Given the description of an element on the screen output the (x, y) to click on. 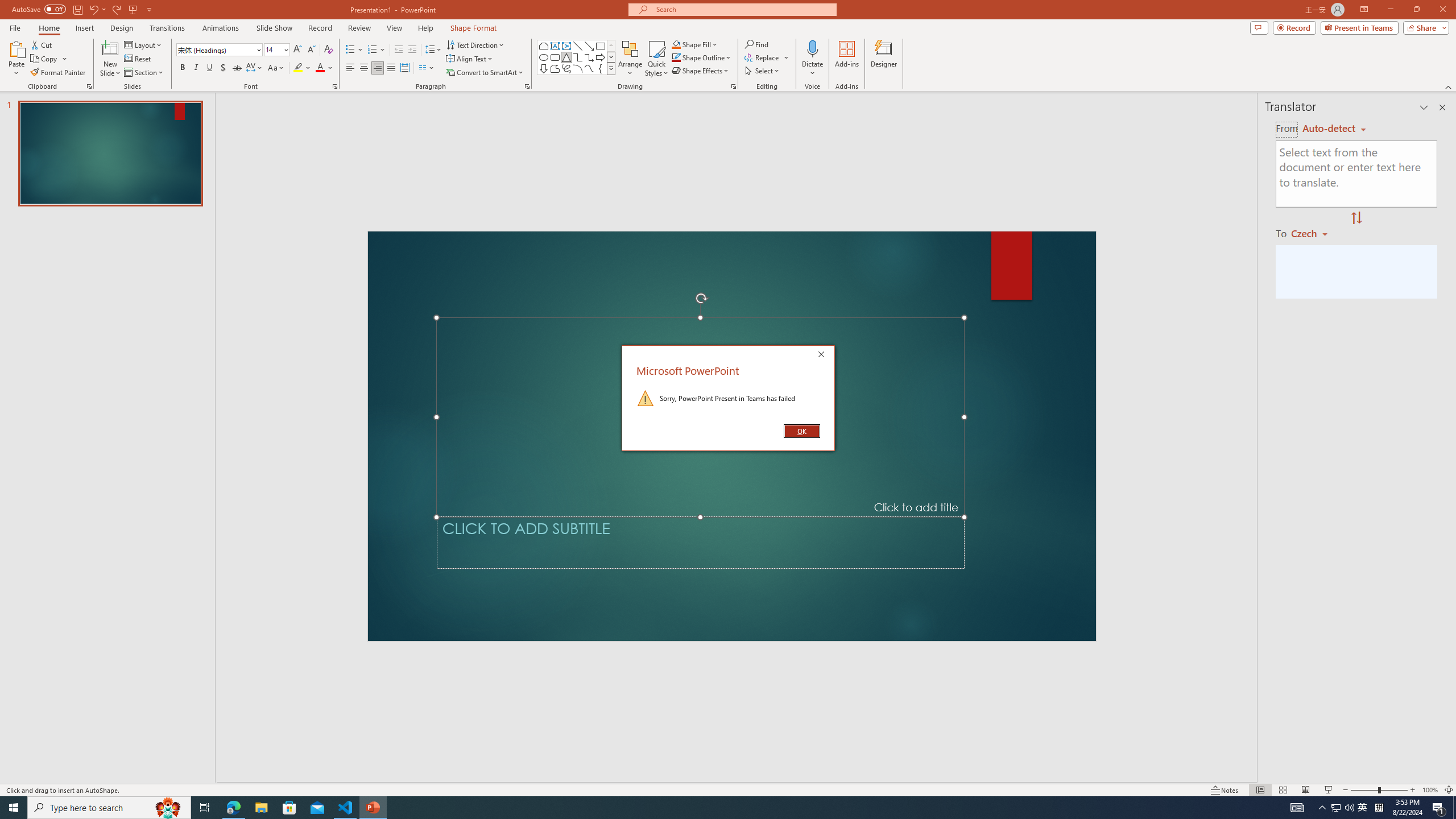
OK (801, 431)
Warning Icon (645, 398)
